Given the description of an element on the screen output the (x, y) to click on. 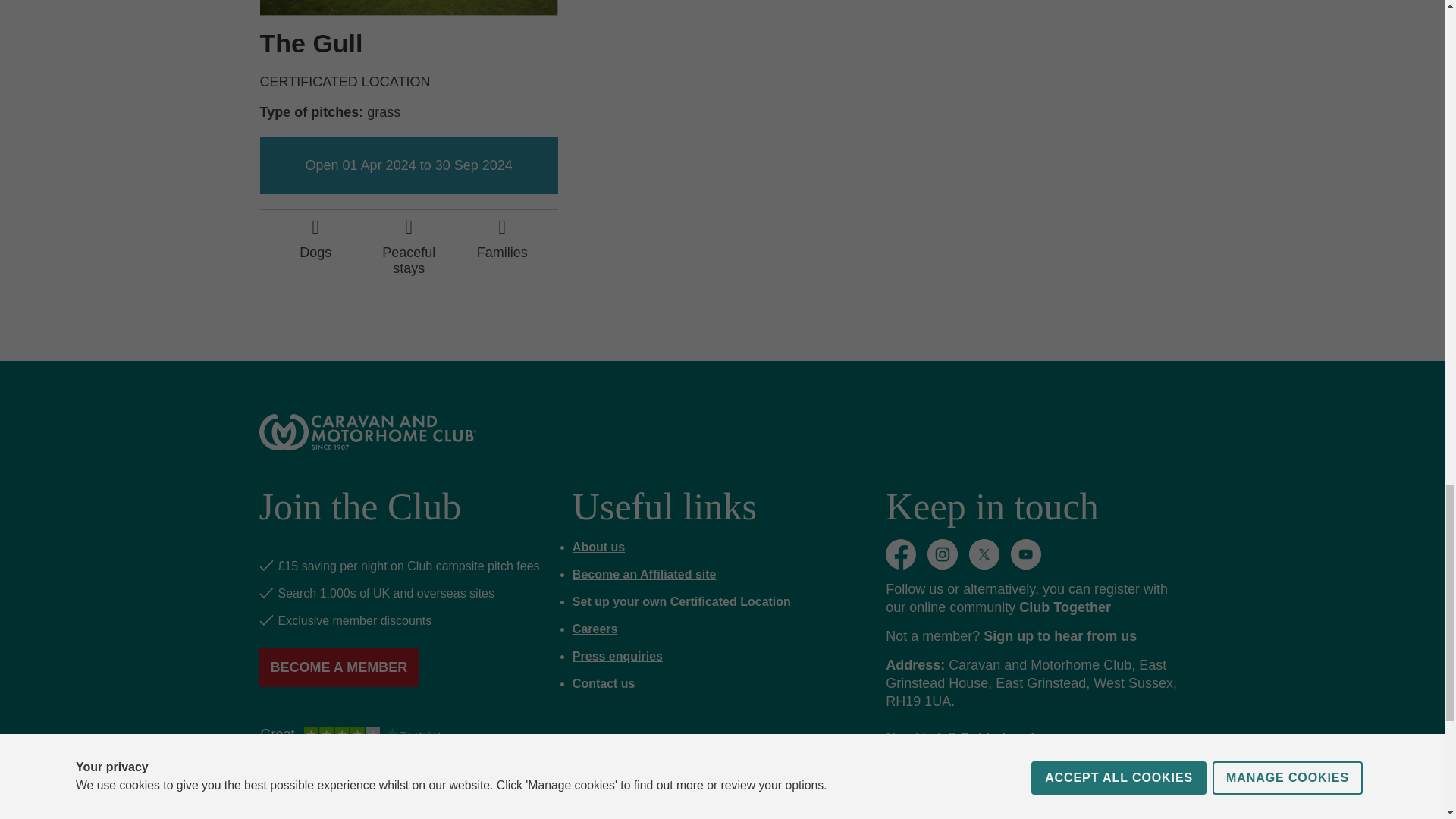
The Gull (310, 42)
Club Together (1064, 607)
Facebook (900, 553)
Customer reviews powered by Trustpilot (349, 735)
Twitter (983, 553)
Instagram (942, 553)
YouTube (1025, 553)
